Given the description of an element on the screen output the (x, y) to click on. 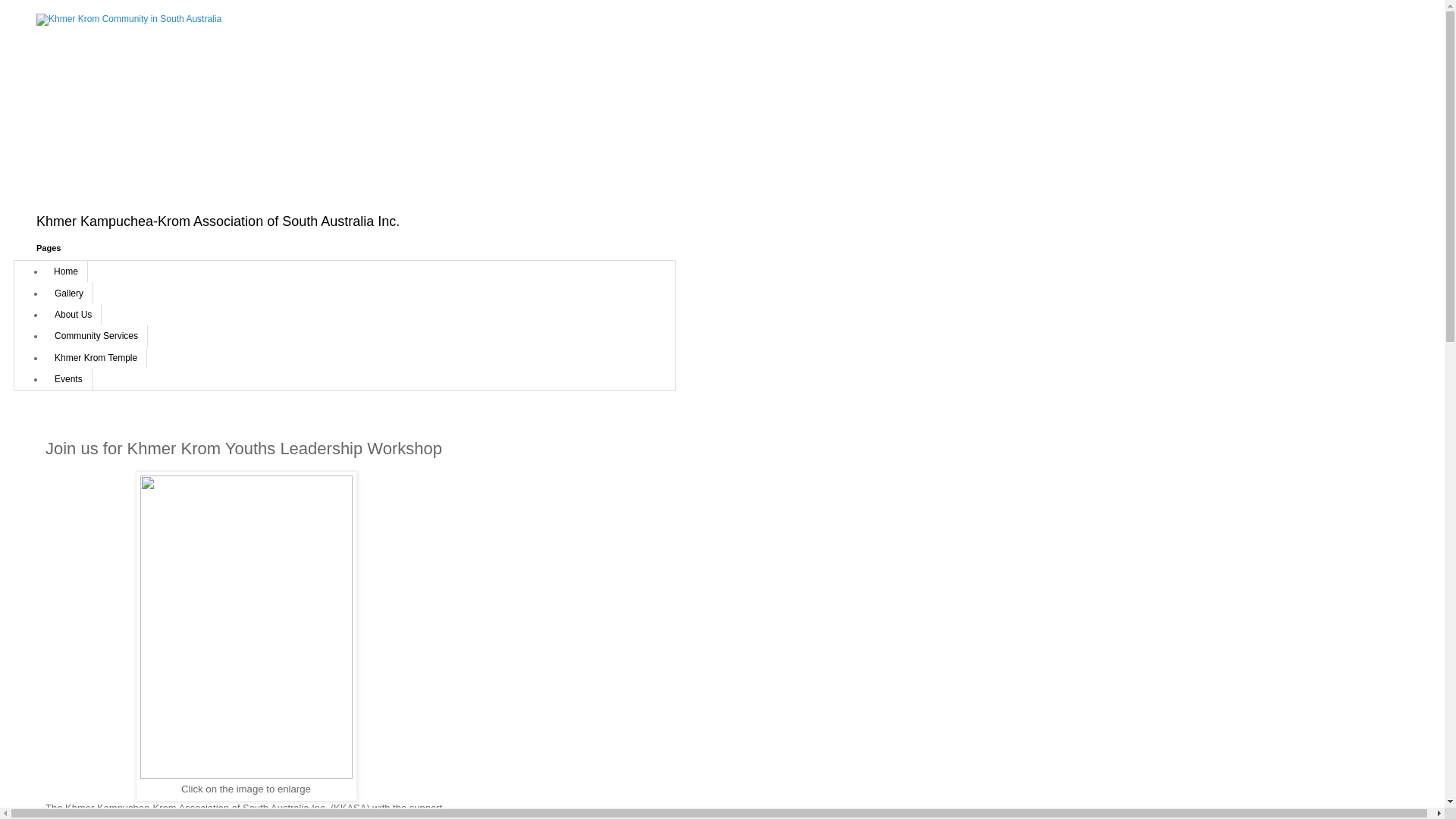
About Us Element type: text (72, 314)
Gallery Element type: text (68, 292)
Khmer Krom Temple Element type: text (95, 357)
Community Services Element type: text (95, 335)
Events Element type: text (68, 378)
Home Element type: text (65, 271)
